Given the description of an element on the screen output the (x, y) to click on. 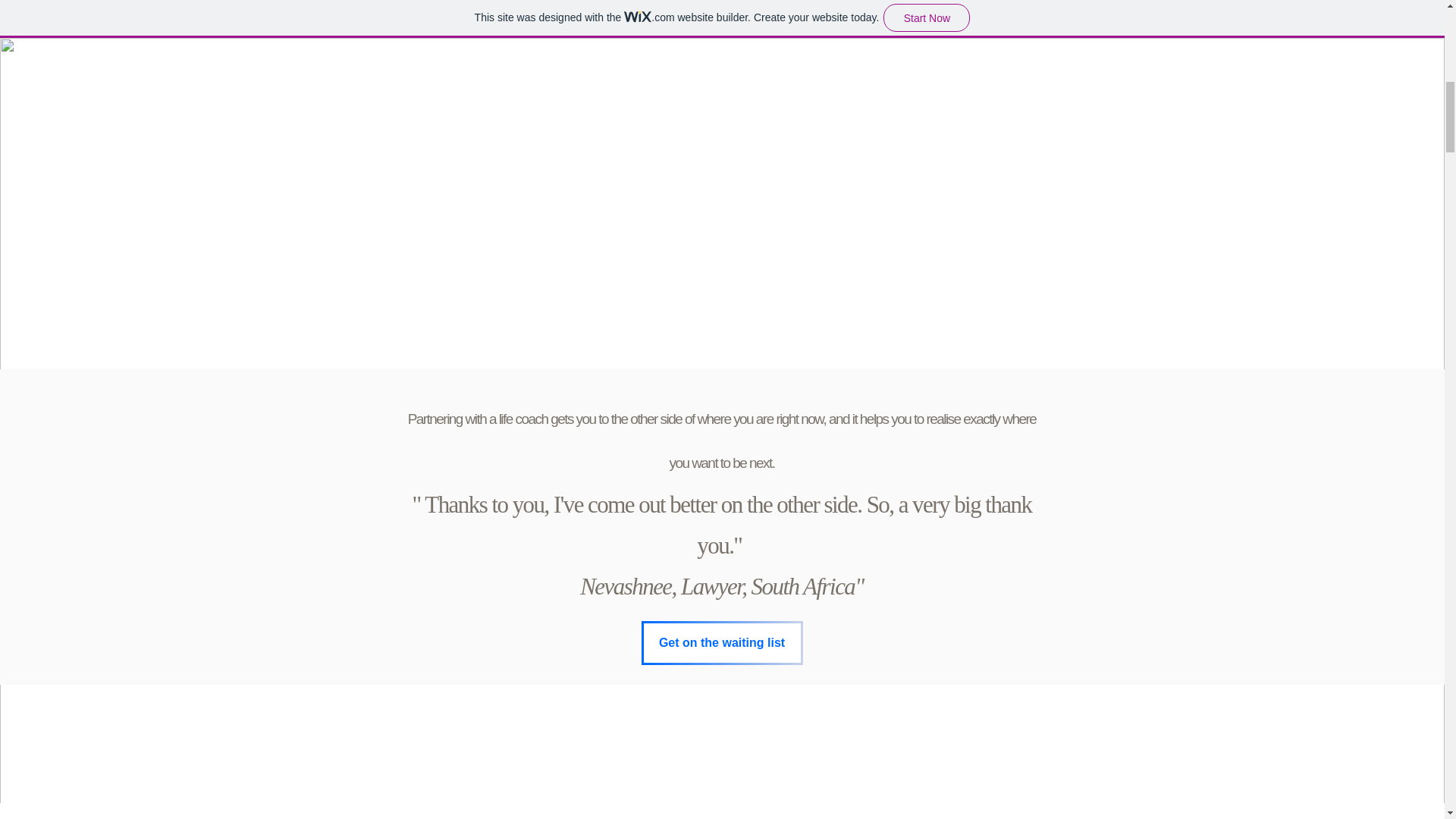
Get on the waiting list (722, 642)
